Given the description of an element on the screen output the (x, y) to click on. 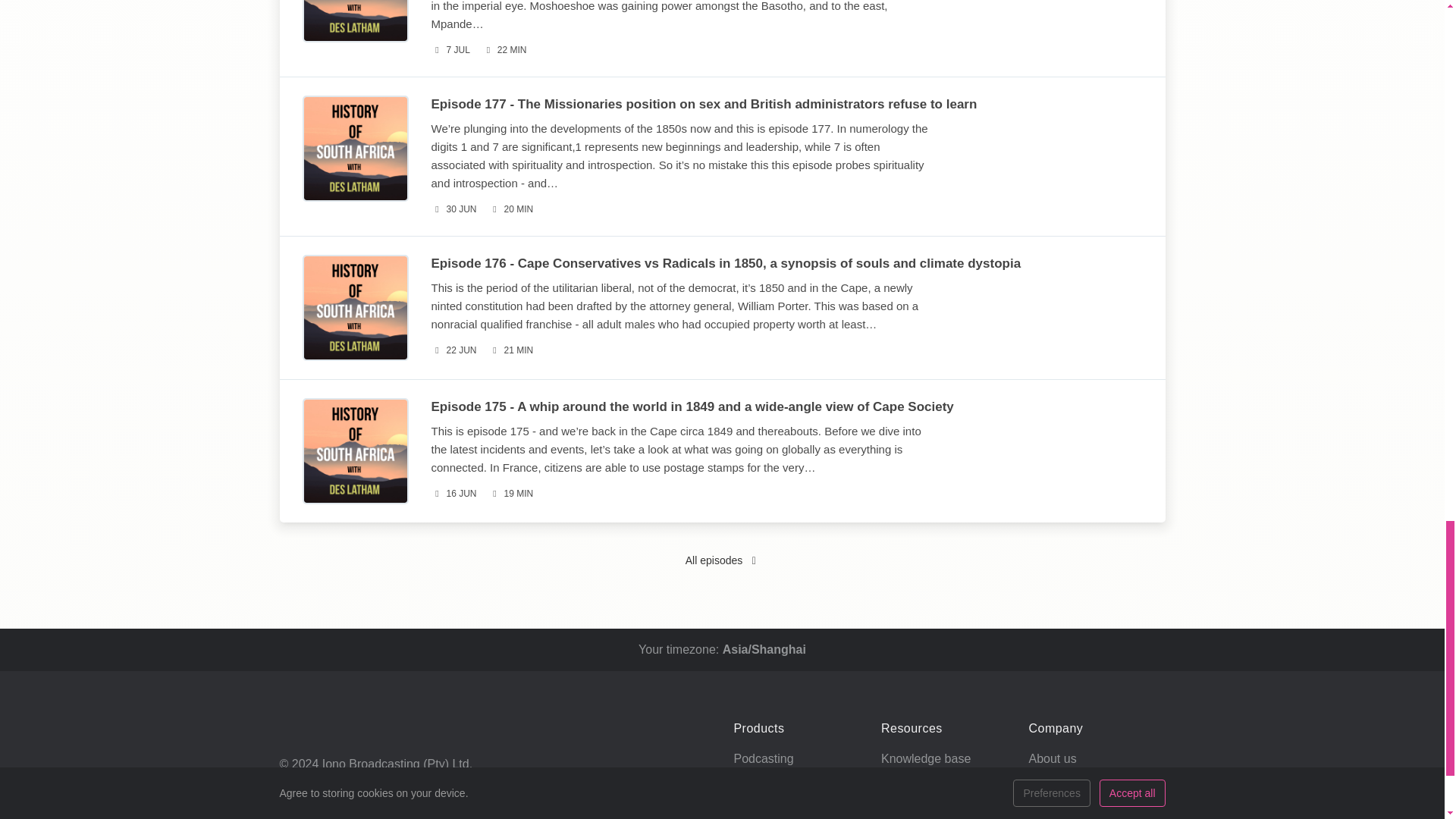
Duration (511, 209)
Published (453, 350)
Published (449, 50)
Published (453, 209)
Duration (511, 350)
Duration (504, 50)
